Given the description of an element on the screen output the (x, y) to click on. 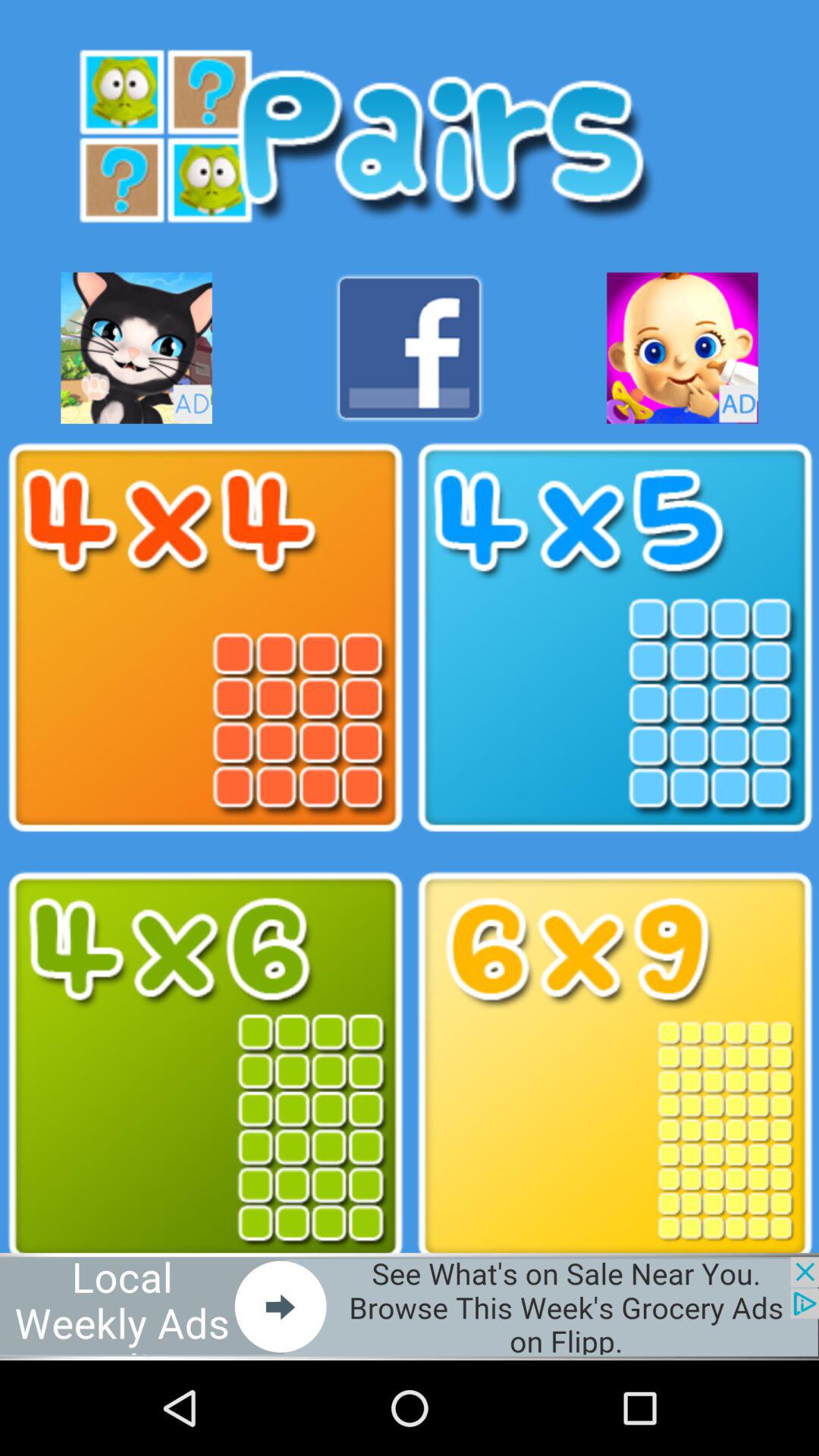
advertisement (682, 347)
